Given the description of an element on the screen output the (x, y) to click on. 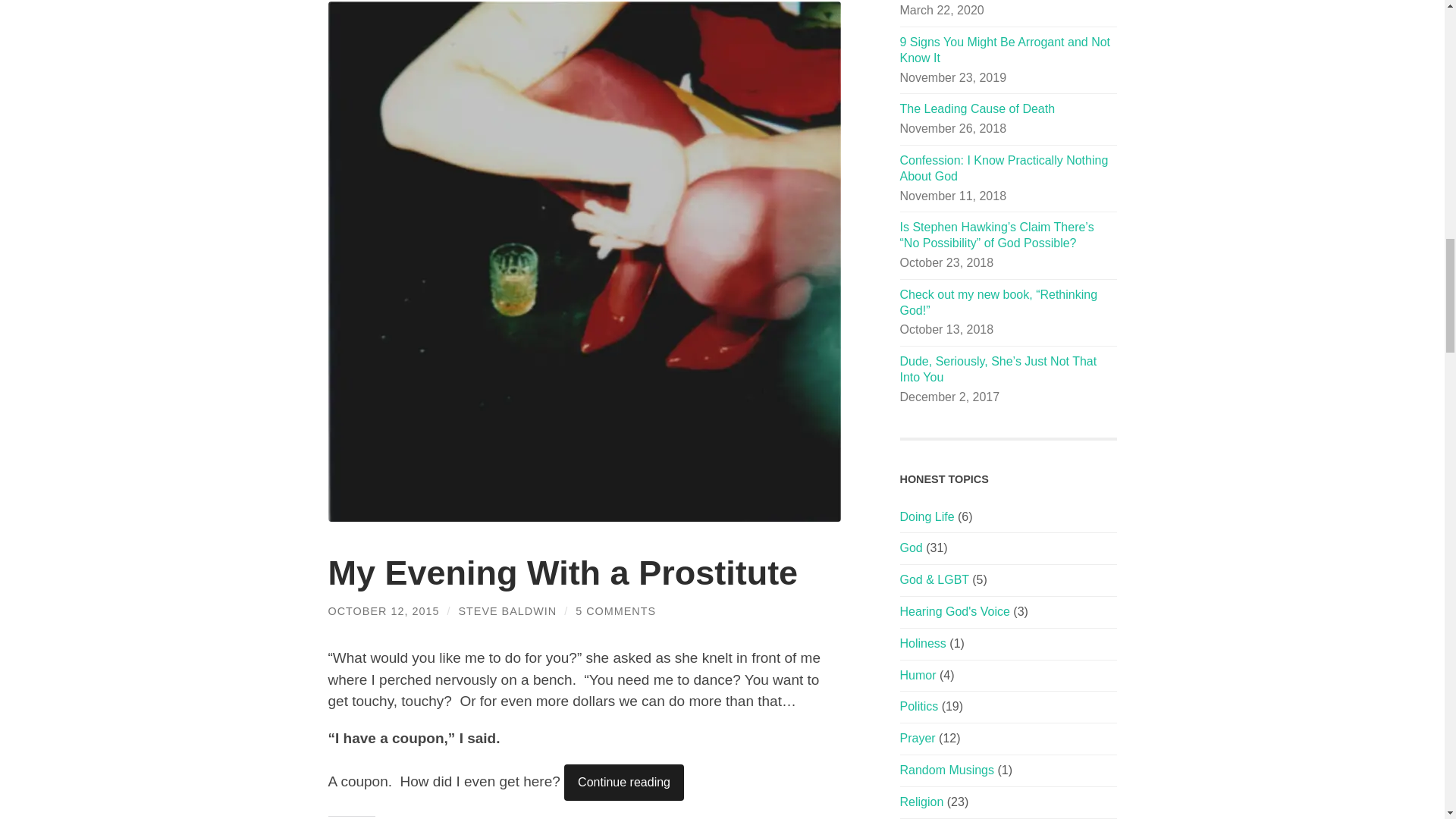
My Evening With a Prostitute (562, 572)
Continue reading (624, 782)
OCTOBER 12, 2015 (383, 611)
STEVE BALDWIN (507, 611)
5 COMMENTS (615, 611)
Posts by Steve Baldwin (507, 611)
